Given the description of an element on the screen output the (x, y) to click on. 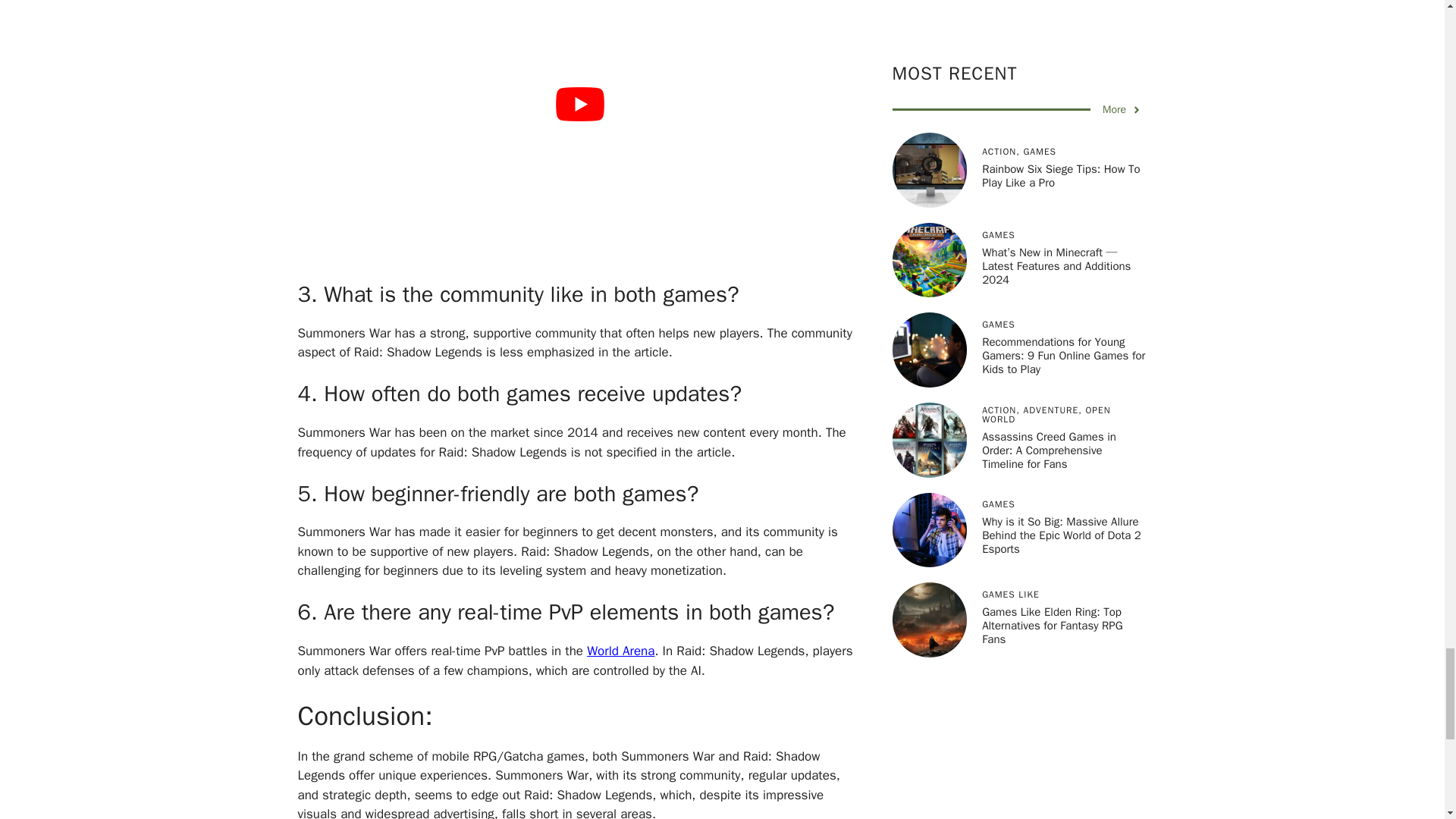
World Arena (619, 650)
